Given the description of an element on the screen output the (x, y) to click on. 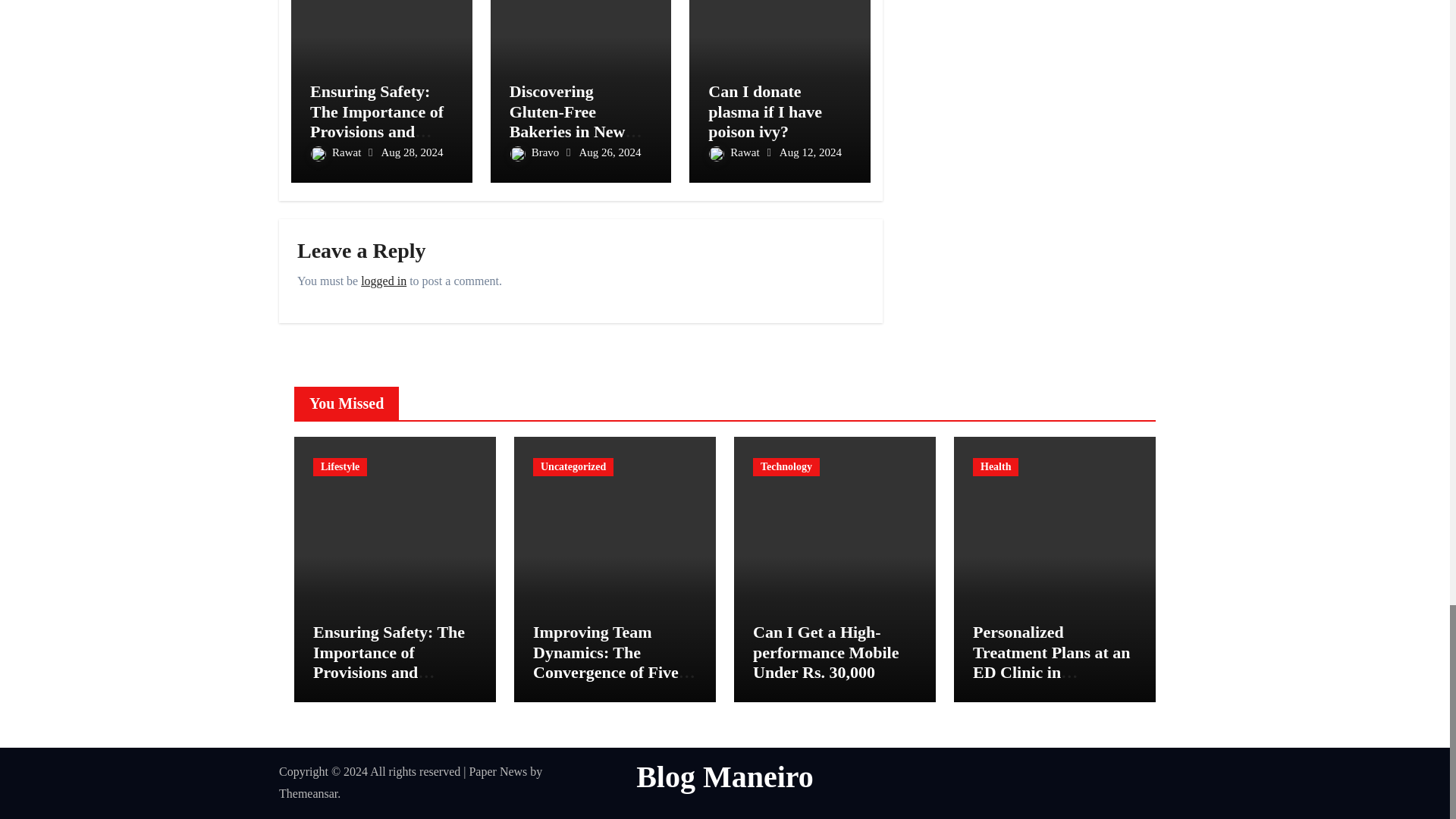
Permalink to: Can I donate plasma if I have poison ivy? (764, 110)
